Given the description of an element on the screen output the (x, y) to click on. 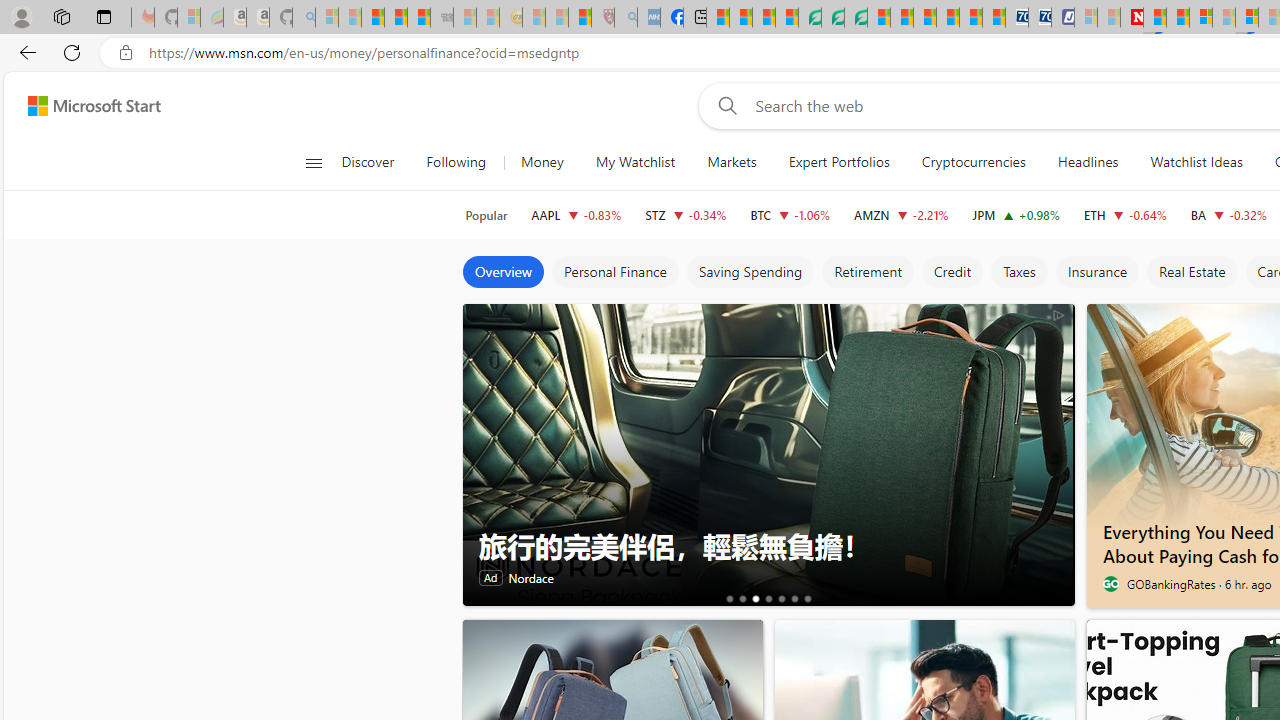
Insurance (1096, 272)
Popular (486, 215)
JPM JPMORGAN CHASE & CO. increase 216.71 +2.11 +0.98% (1016, 214)
Latest Politics News & Archive | Newsweek.com (1132, 17)
Credit (952, 272)
ETH Ethereum decrease 2,624.30 -16.80 -0.64% (1124, 214)
